Given the description of an element on the screen output the (x, y) to click on. 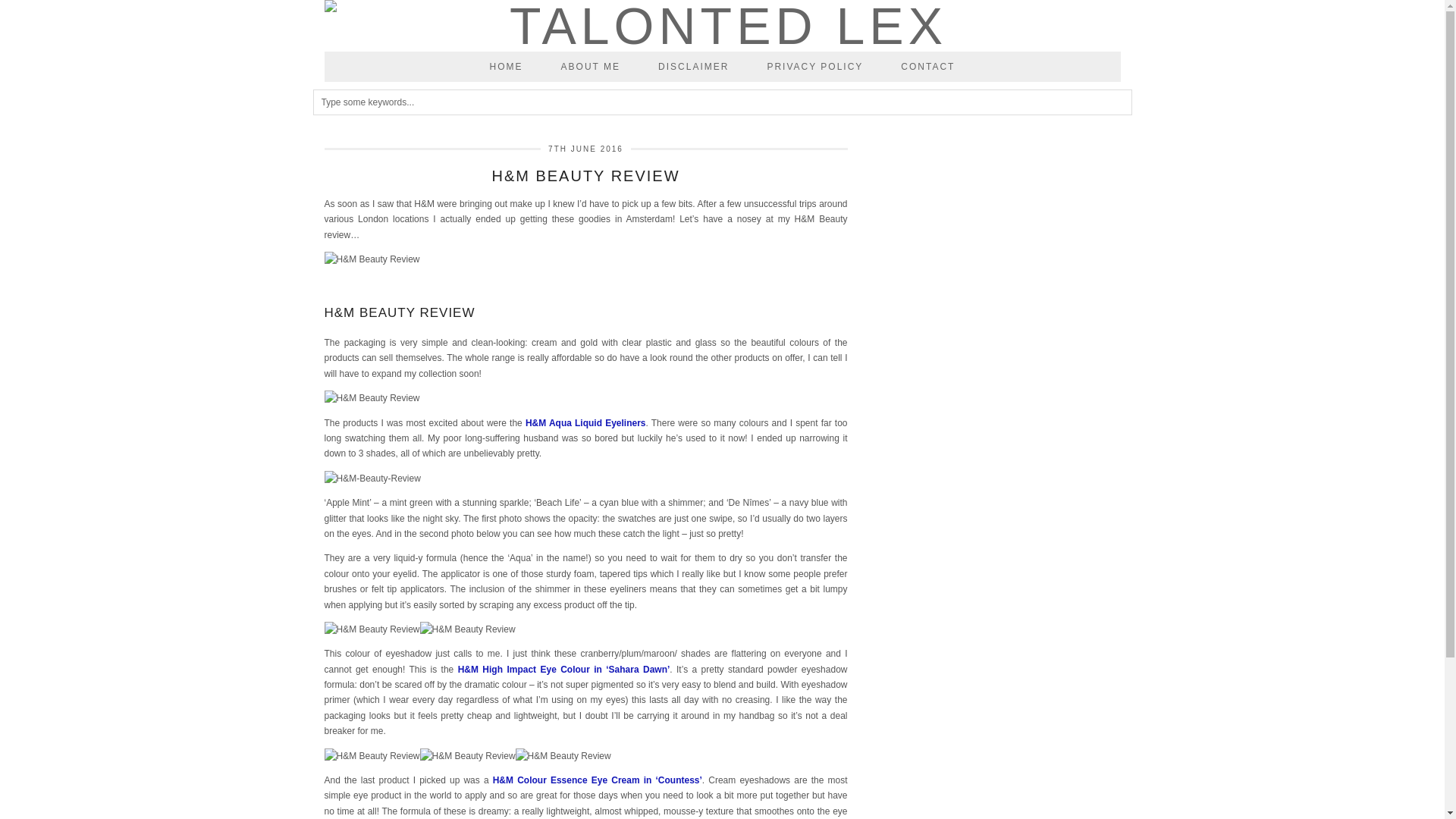
ABOUT ME (590, 66)
DISCLAIMER (693, 66)
Talonted Lex (722, 25)
HOME (505, 66)
PRIVACY POLICY (815, 66)
CONTACT (928, 66)
